Given the description of an element on the screen output the (x, y) to click on. 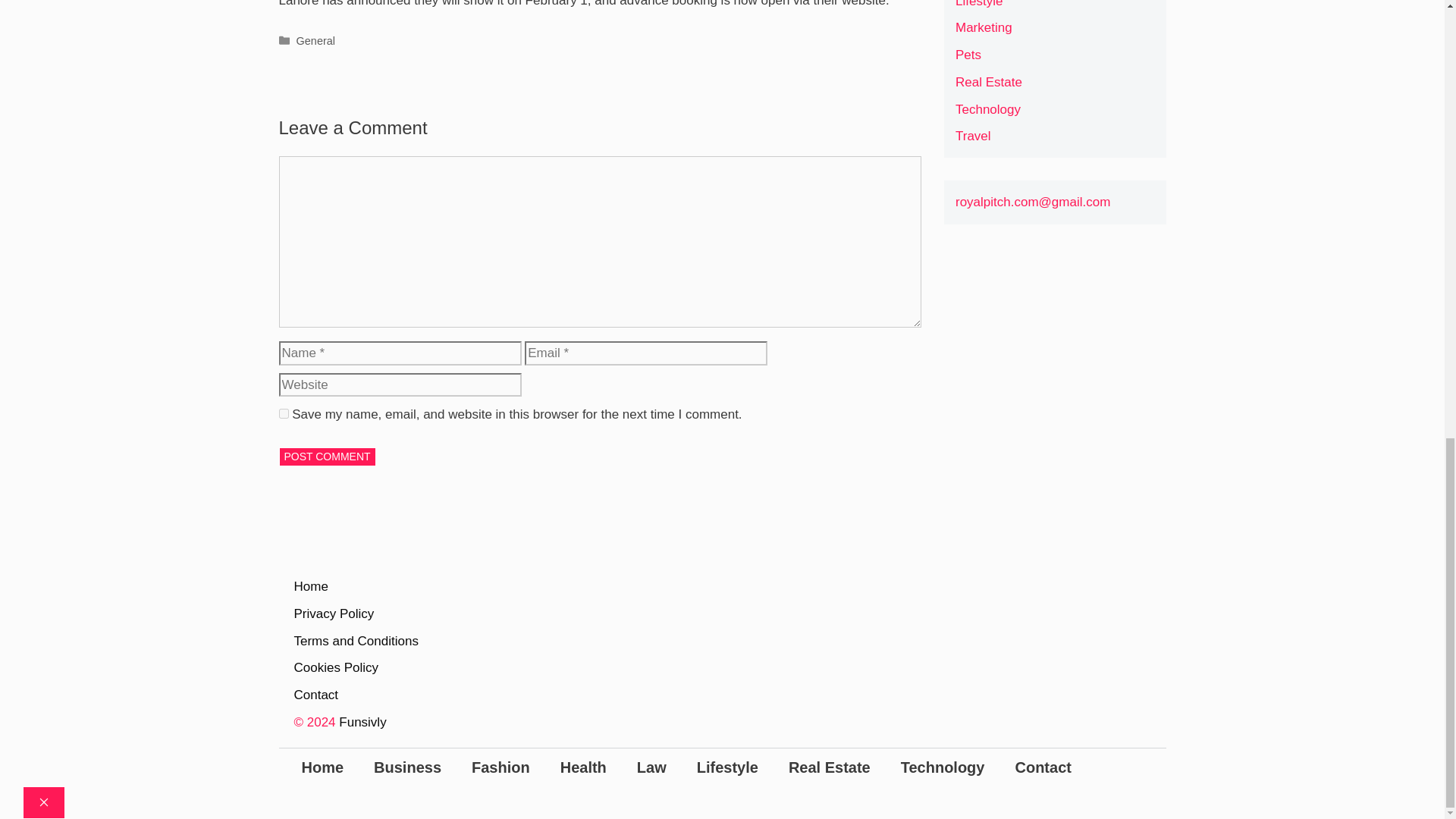
Marketing (983, 27)
Post Comment (327, 456)
Lifestyle (979, 4)
yes (283, 413)
General (315, 40)
Post Comment (327, 456)
